Given the description of an element on the screen output the (x, y) to click on. 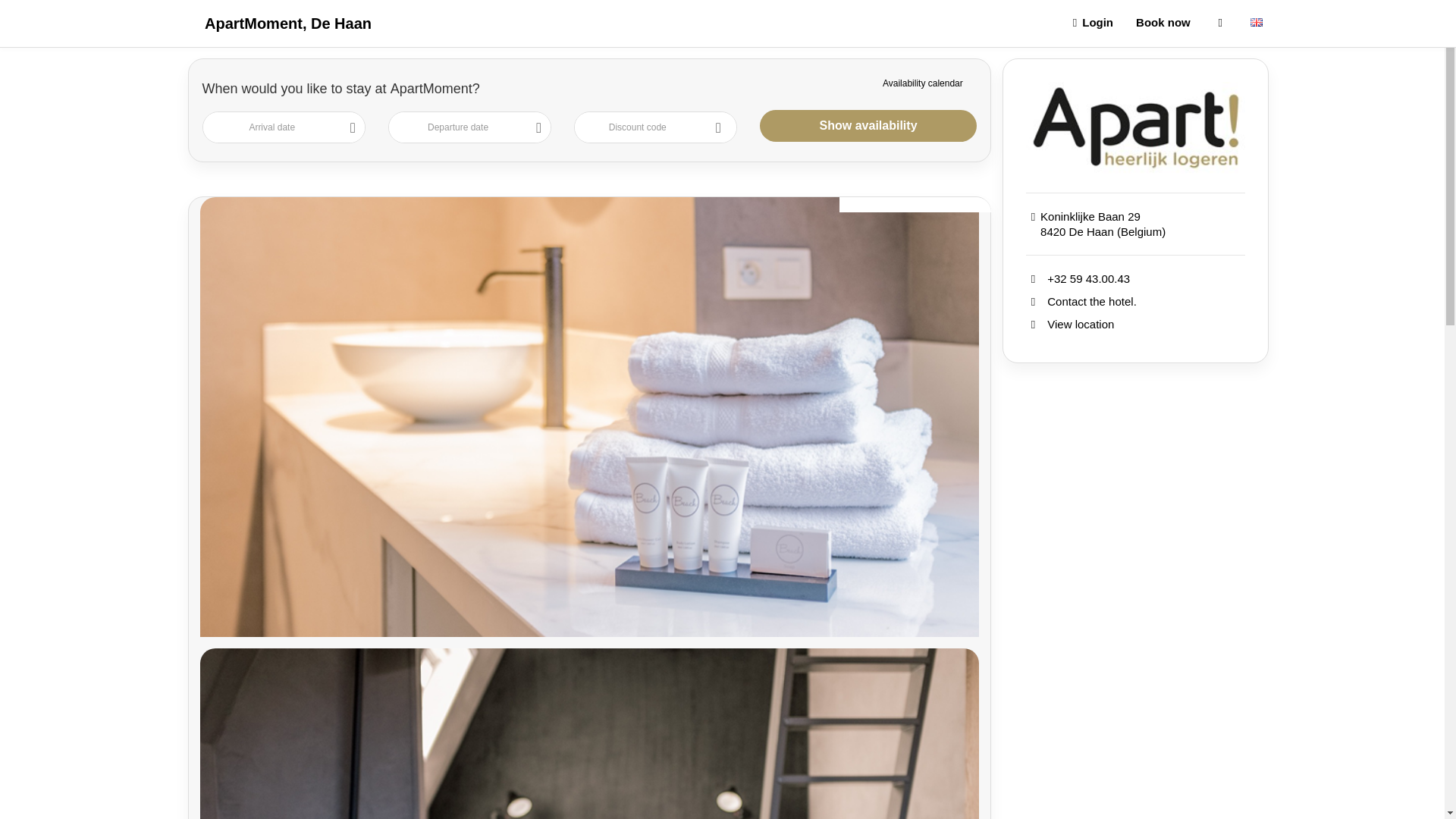
Availability calendar (922, 82)
Contact ApartMoment (1091, 300)
Book now (1163, 22)
Login (1090, 22)
ApartMoment (1135, 127)
show availability (867, 125)
ApartMoment, De Haan (287, 23)
Availability calendar (922, 82)
View location (1079, 323)
Book now (1163, 22)
